Given the description of an element on the screen output the (x, y) to click on. 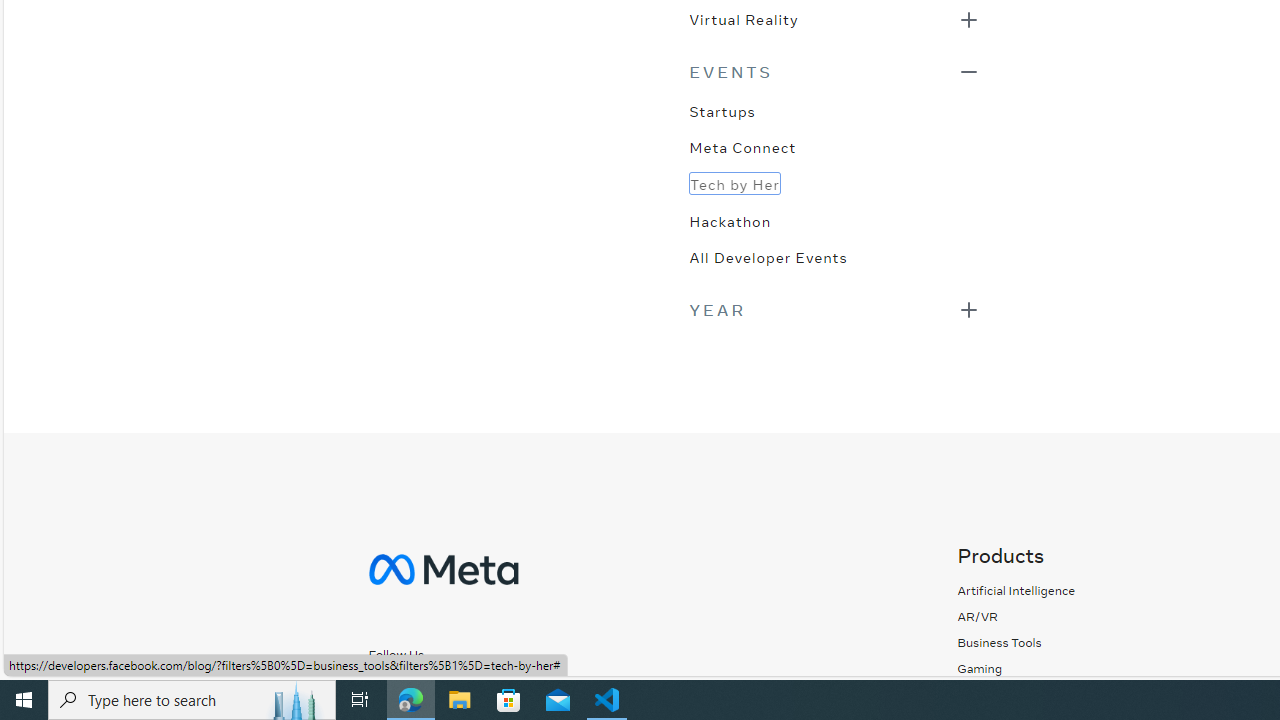
Class: _9890 _98ey (834, 71)
AR/VR (1016, 616)
Startups (722, 109)
Class: _9890 _98ez (834, 308)
Artificial Intelligence (1016, 590)
All Developer Events (767, 255)
Meta Connect (742, 145)
Business Tools (1016, 642)
Artificial Intelligence (1016, 590)
Business Tools (999, 642)
Class: _98ex _98ez (834, 25)
Gaming (1016, 668)
Hackathon (729, 219)
Class: _98ex (834, 263)
Tech by Her (734, 183)
